Given the description of an element on the screen output the (x, y) to click on. 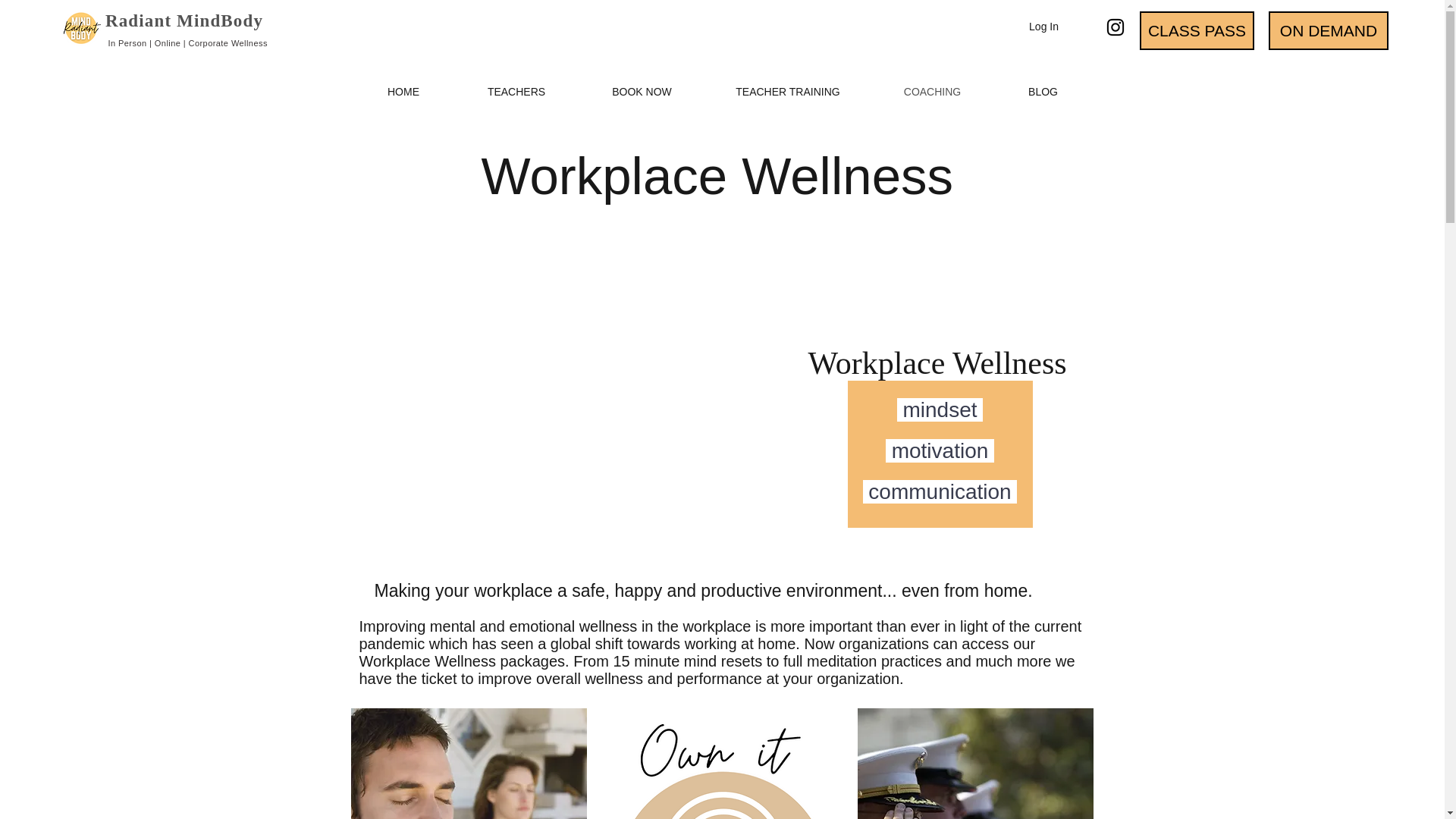
TEACHER TRAINING (787, 92)
CLASS PASS (1196, 30)
BOOK NOW (641, 92)
Log In (1042, 26)
BLOG (1042, 92)
 Radiant MindBody (181, 20)
TEACHERS (515, 92)
HOME (403, 92)
ON DEMAND (1328, 30)
COACHING (931, 92)
